Given the description of an element on the screen output the (x, y) to click on. 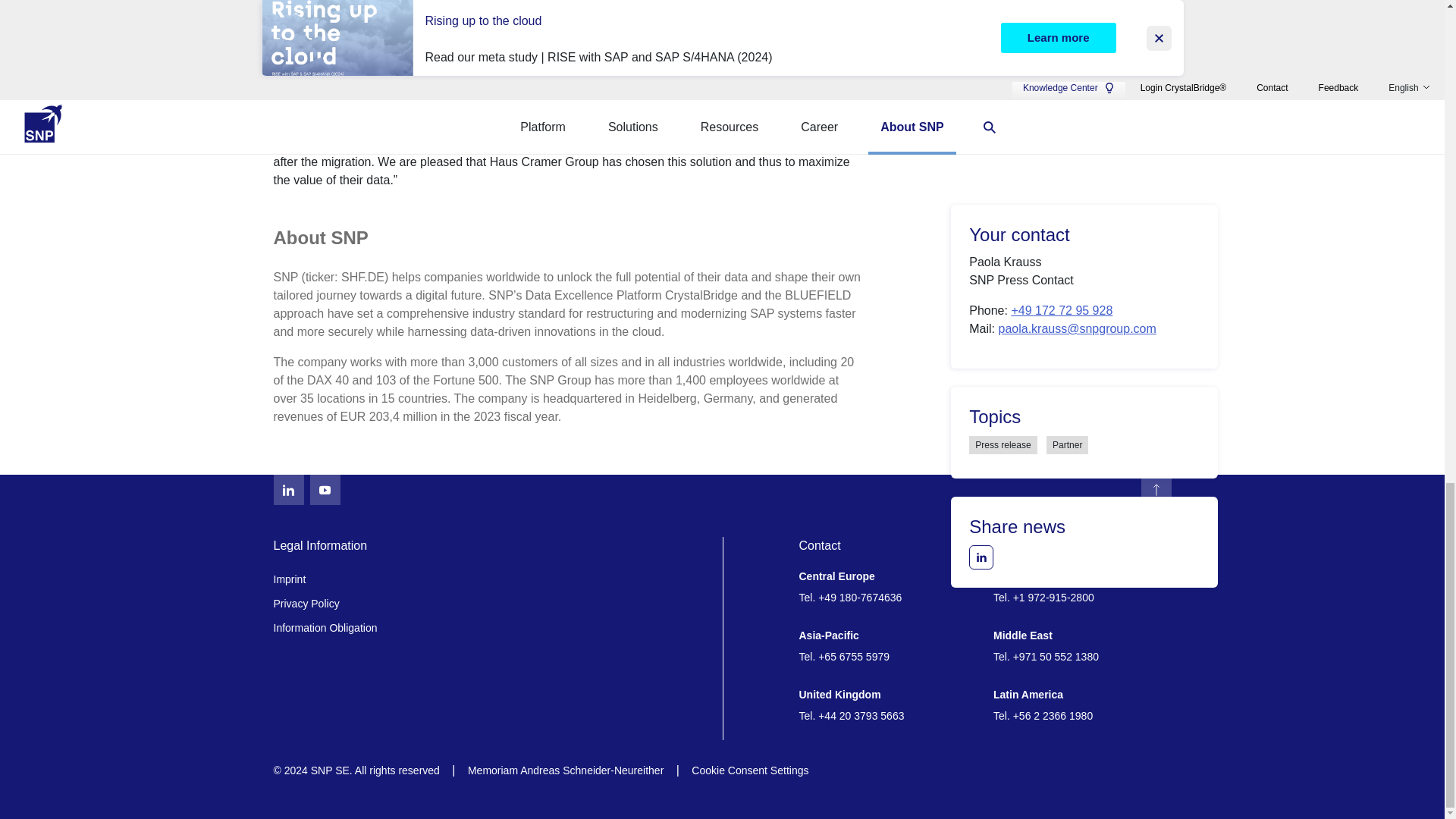
Information Obligation (491, 627)
LinkedIn (287, 490)
YouTube (323, 490)
Imprint (491, 579)
Privacy Policy (491, 603)
Back to top (1155, 490)
